Given the description of an element on the screen output the (x, y) to click on. 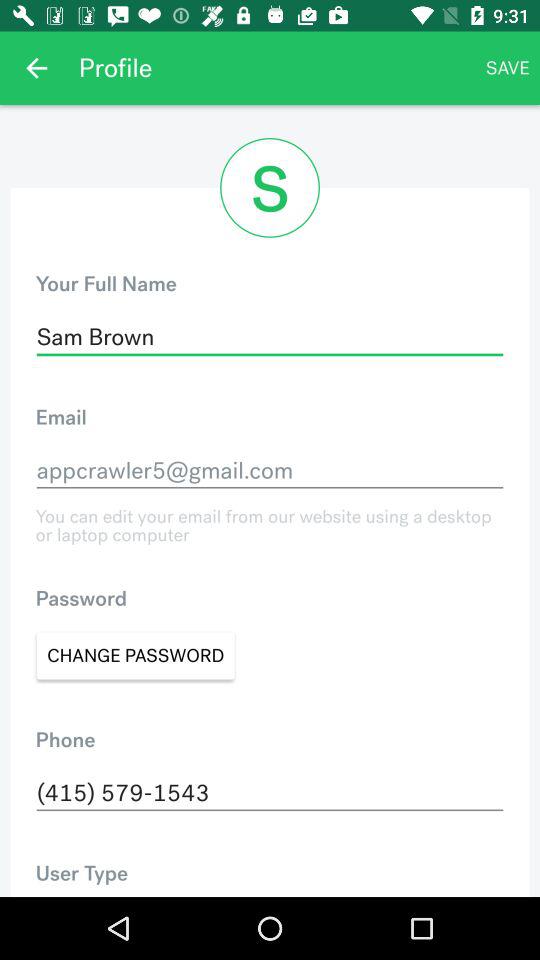
turn off the icon below the password icon (135, 655)
